Given the description of an element on the screen output the (x, y) to click on. 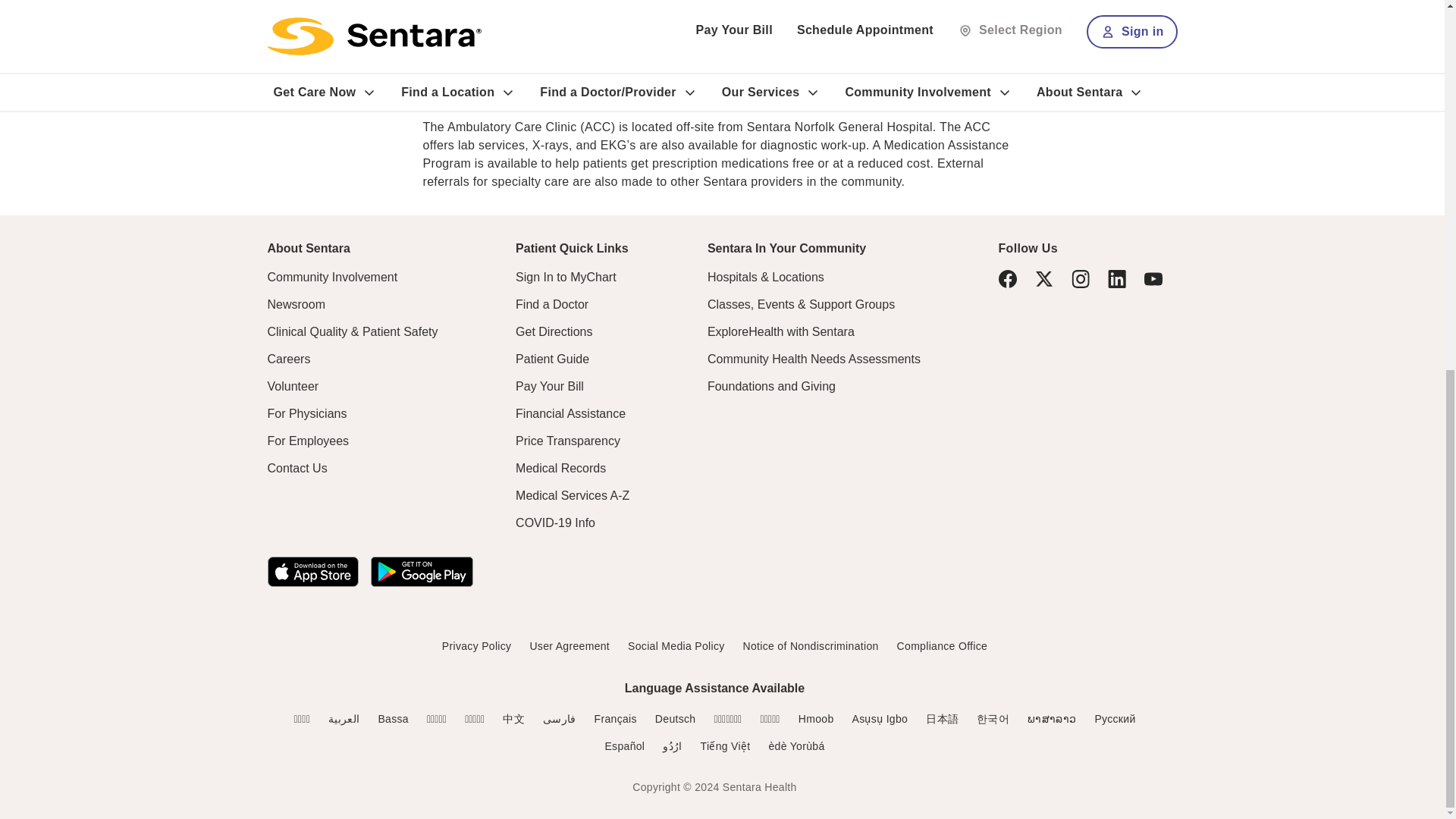
LinkedIn (1115, 278)
Download the Sentara App on the App Store (312, 571)
Twitter (1042, 279)
YouTube (1151, 278)
Instagram (1079, 278)
Download the Sentara Android App on Google Play (420, 571)
Facebook (1006, 279)
